Given the description of an element on the screen output the (x, y) to click on. 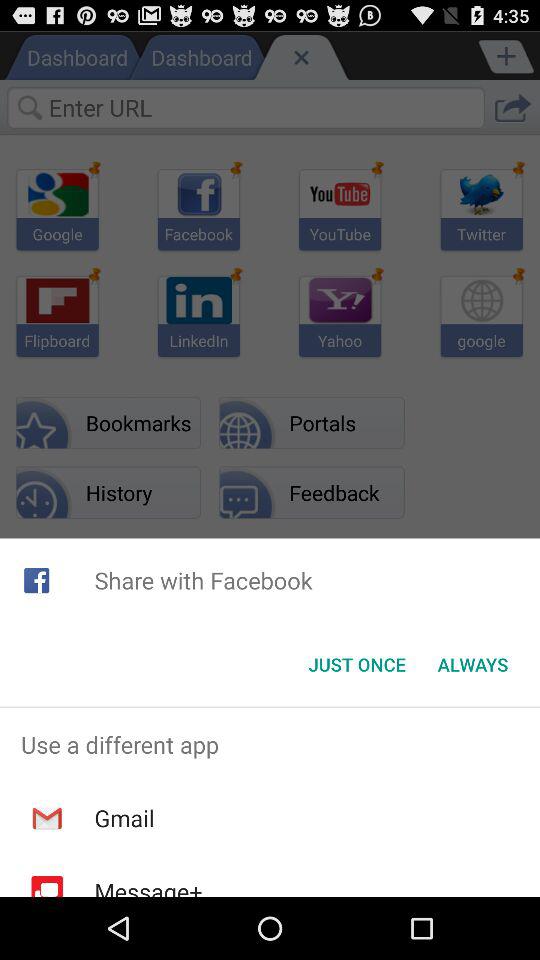
choose the use a different app (270, 744)
